Given the description of an element on the screen output the (x, y) to click on. 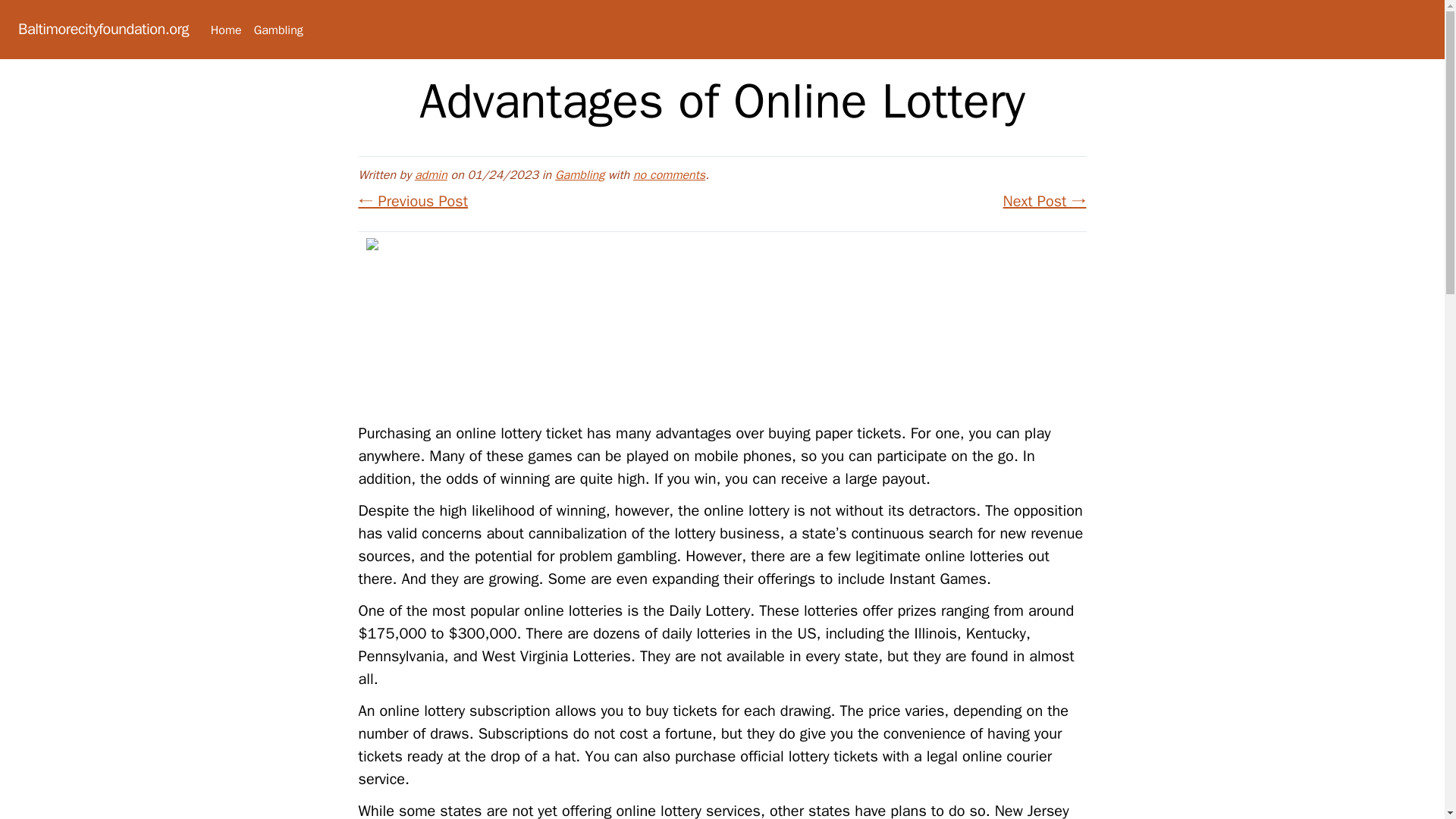
no comments (668, 174)
no comments (668, 174)
Gambling (579, 174)
Gambling (277, 30)
admin (430, 174)
Baltimorecityfoundation.org (103, 29)
Home (226, 30)
